Given the description of an element on the screen output the (x, y) to click on. 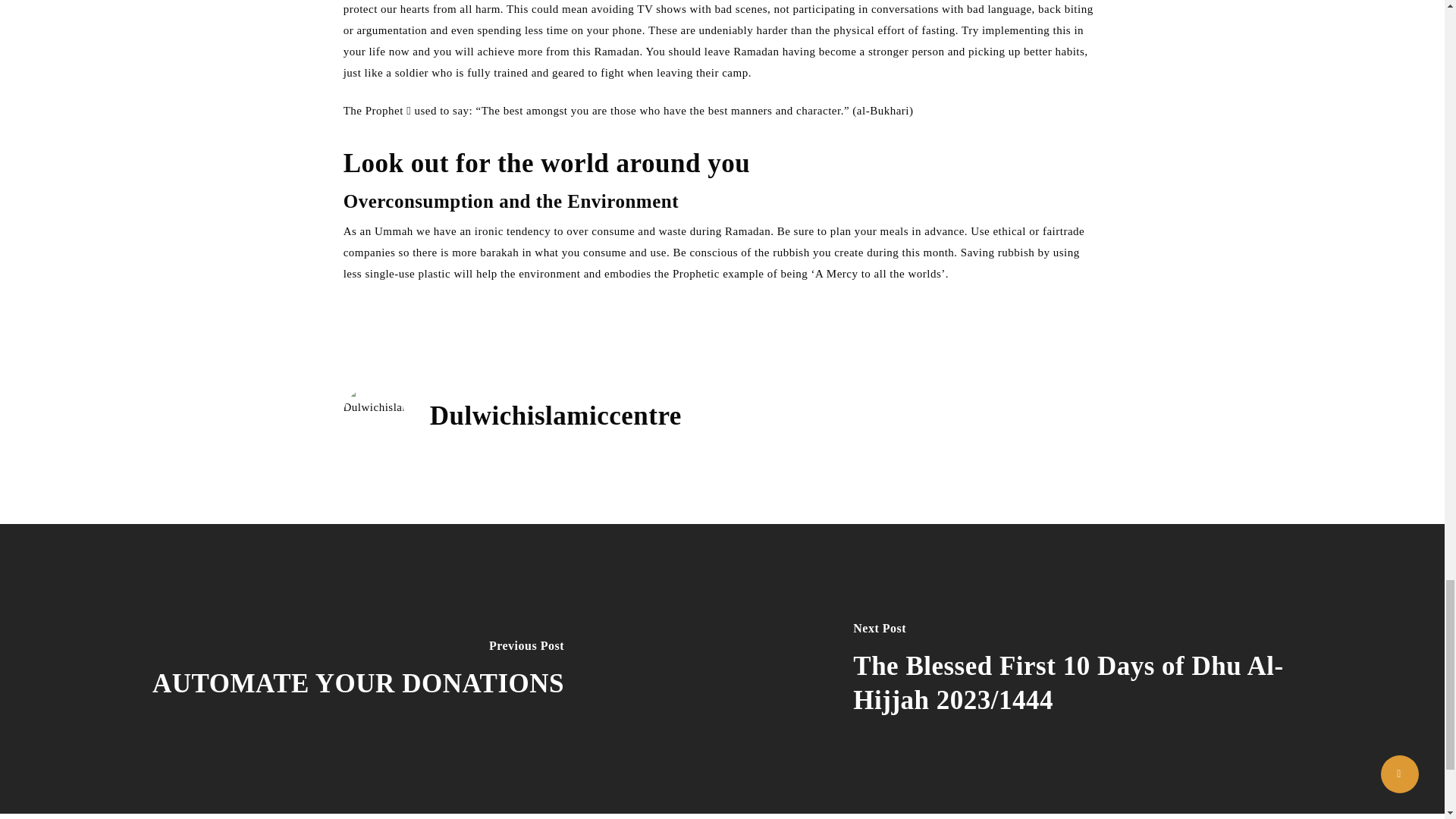
Dulwichislamiccentre (555, 414)
